Given the description of an element on the screen output the (x, y) to click on. 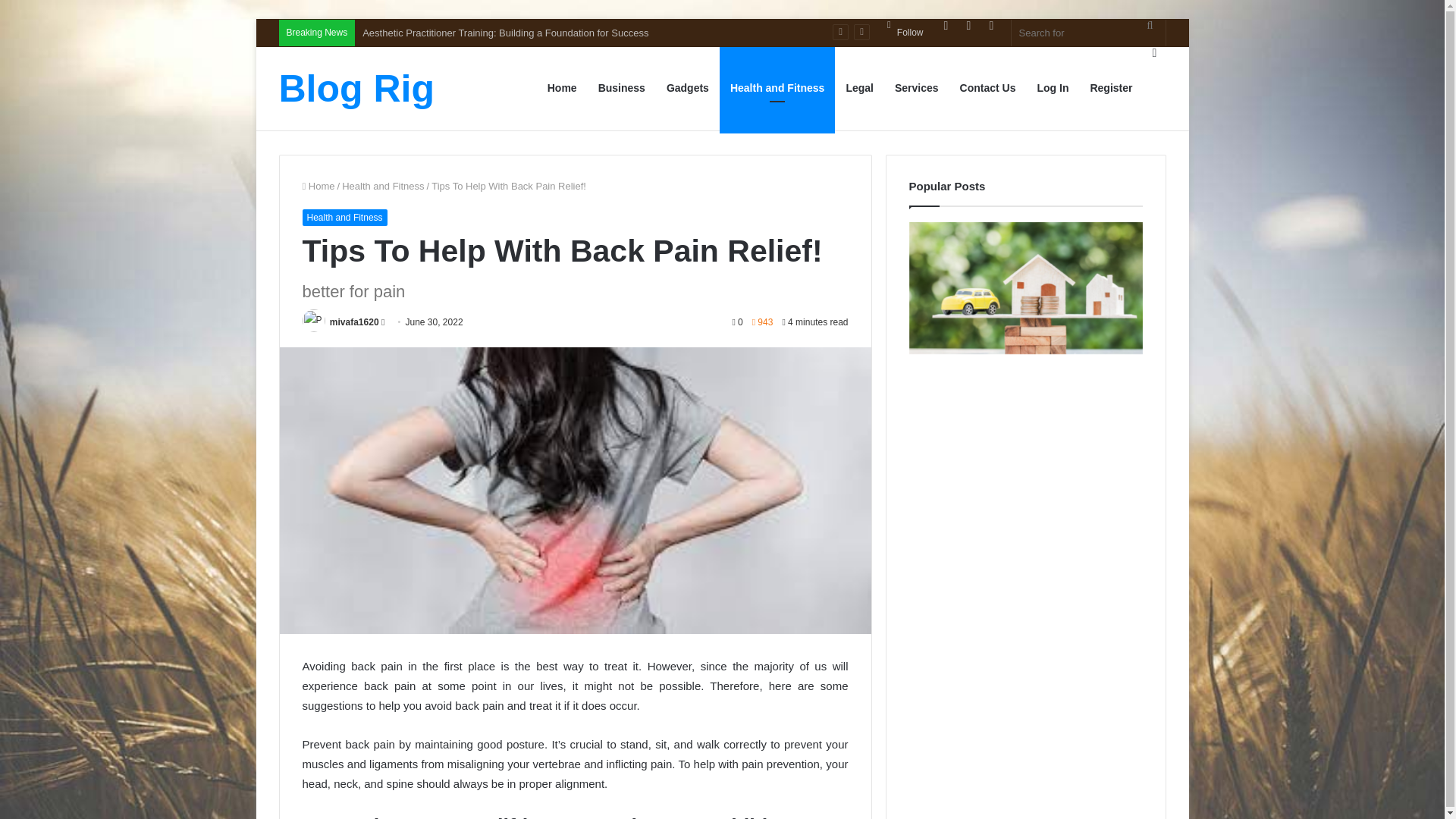
Search for (1149, 25)
Log In (945, 25)
Health and Fitness (344, 217)
Sidebar (991, 25)
Blog Rig (357, 88)
Home (317, 185)
Sidebar (1154, 52)
Search for (1088, 32)
Random Article (967, 25)
